Given the description of an element on the screen output the (x, y) to click on. 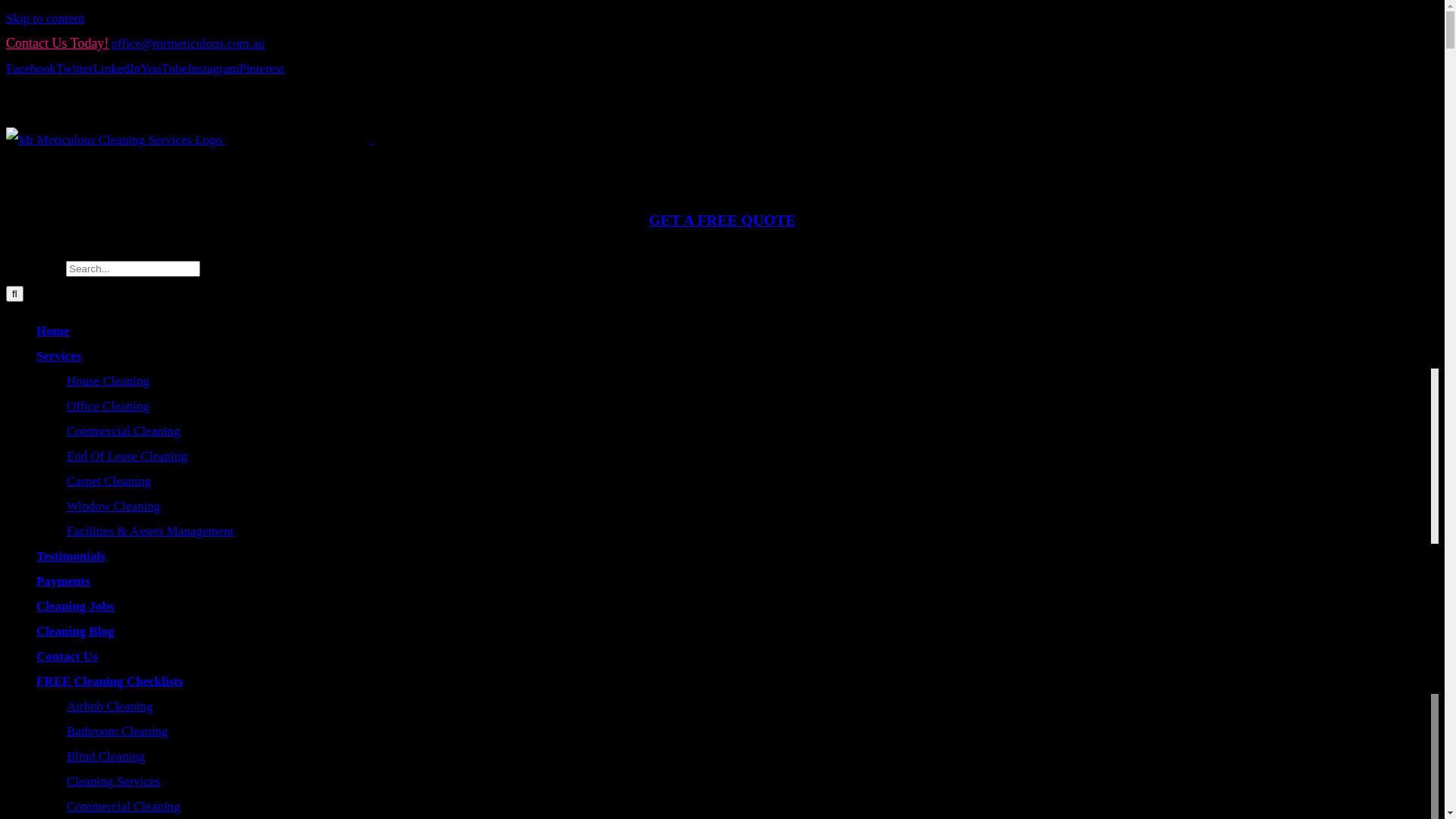
YouTube Element type: text (163, 68)
Pinterest Element type: text (261, 68)
End Of Lease Cleaning Element type: text (126, 455)
Contact Us Today! Element type: text (57, 42)
LinkedIn Element type: text (116, 68)
Commercial Cleaning Element type: text (123, 430)
Cleaning Blog Element type: text (75, 631)
Services Element type: text (58, 355)
Carpet Cleaning Element type: text (108, 480)
Facebook Element type: text (31, 68)
Commercial Cleaning Element type: text (123, 806)
House Cleaning Element type: text (107, 380)
FREE Cleaning Checklists Element type: text (109, 681)
Cleaning Services Element type: text (113, 781)
Blind Cleaning Element type: text (105, 756)
Airbnb Cleaning Element type: text (109, 706)
GET A FREE QUOTE Element type: text (722, 219)
Contact Us Element type: text (66, 656)
Instagram Element type: text (212, 68)
Bathroom Cleaning Element type: text (117, 731)
Testimonials Element type: text (70, 556)
Office Cleaning Element type: text (107, 405)
Window Cleaning Element type: text (113, 505)
Payments Element type: text (63, 581)
Twitter Element type: text (74, 68)
Facilities & Assets Management Element type: text (150, 531)
Cleaning Jobs Element type: text (75, 606)
Skip to content Element type: text (45, 18)
Home Element type: text (52, 330)
office@mrmeticulous.com.au Element type: text (187, 43)
